Given the description of an element on the screen output the (x, y) to click on. 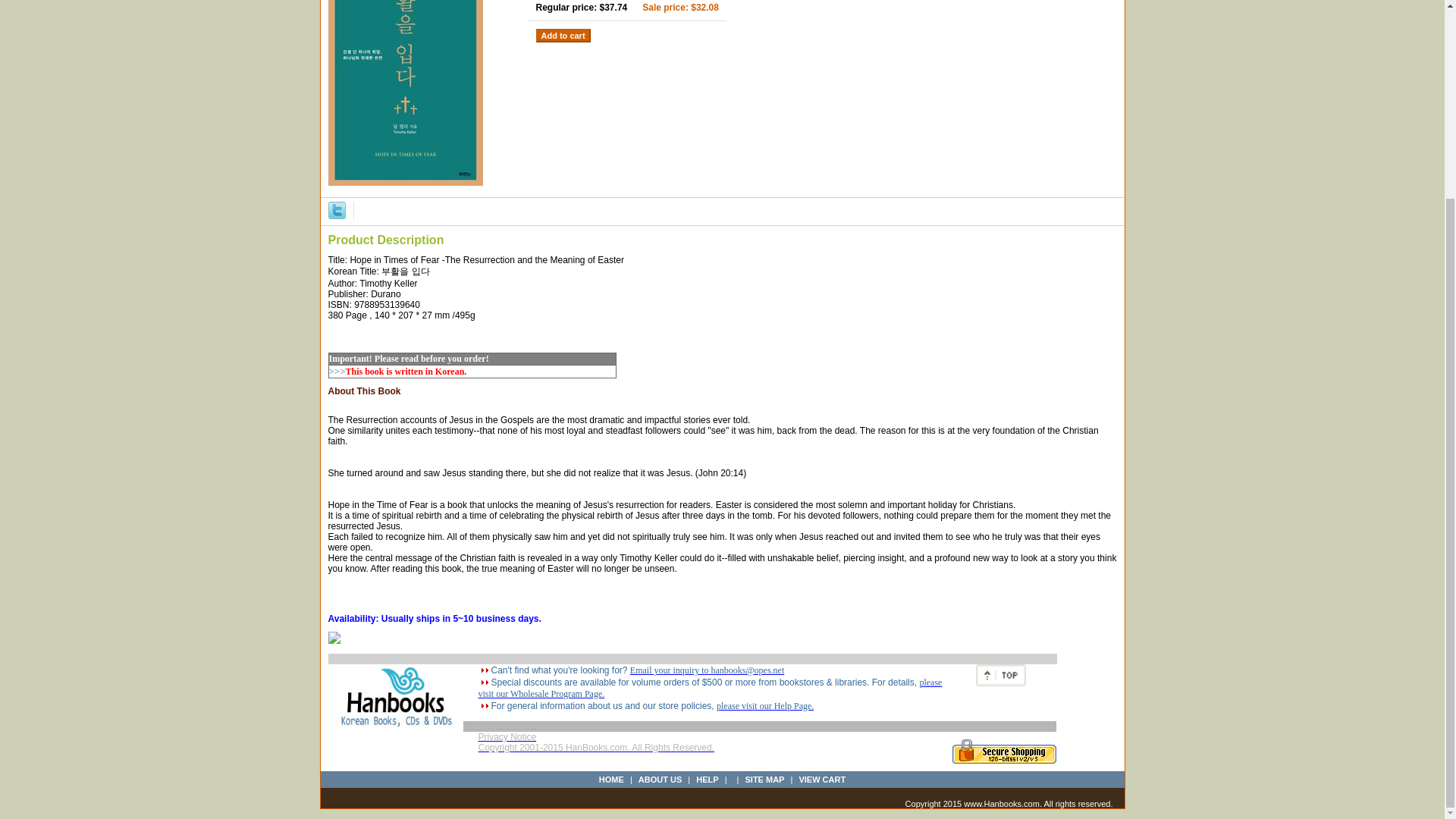
Add to cart (562, 35)
Add to cart (562, 35)
HOME (611, 778)
Privacy Notice (506, 737)
HELP (707, 778)
please visit our Wholesale Program Page. (709, 688)
please visit our Help Page. (764, 706)
Add to cart (562, 35)
VIEW CART (821, 778)
Tweet (336, 209)
Copyright 2001-2015 HanBooks.com. All Rights Reserved. (595, 752)
SITE MAP (765, 778)
ABOUT US (659, 778)
